Given the description of an element on the screen output the (x, y) to click on. 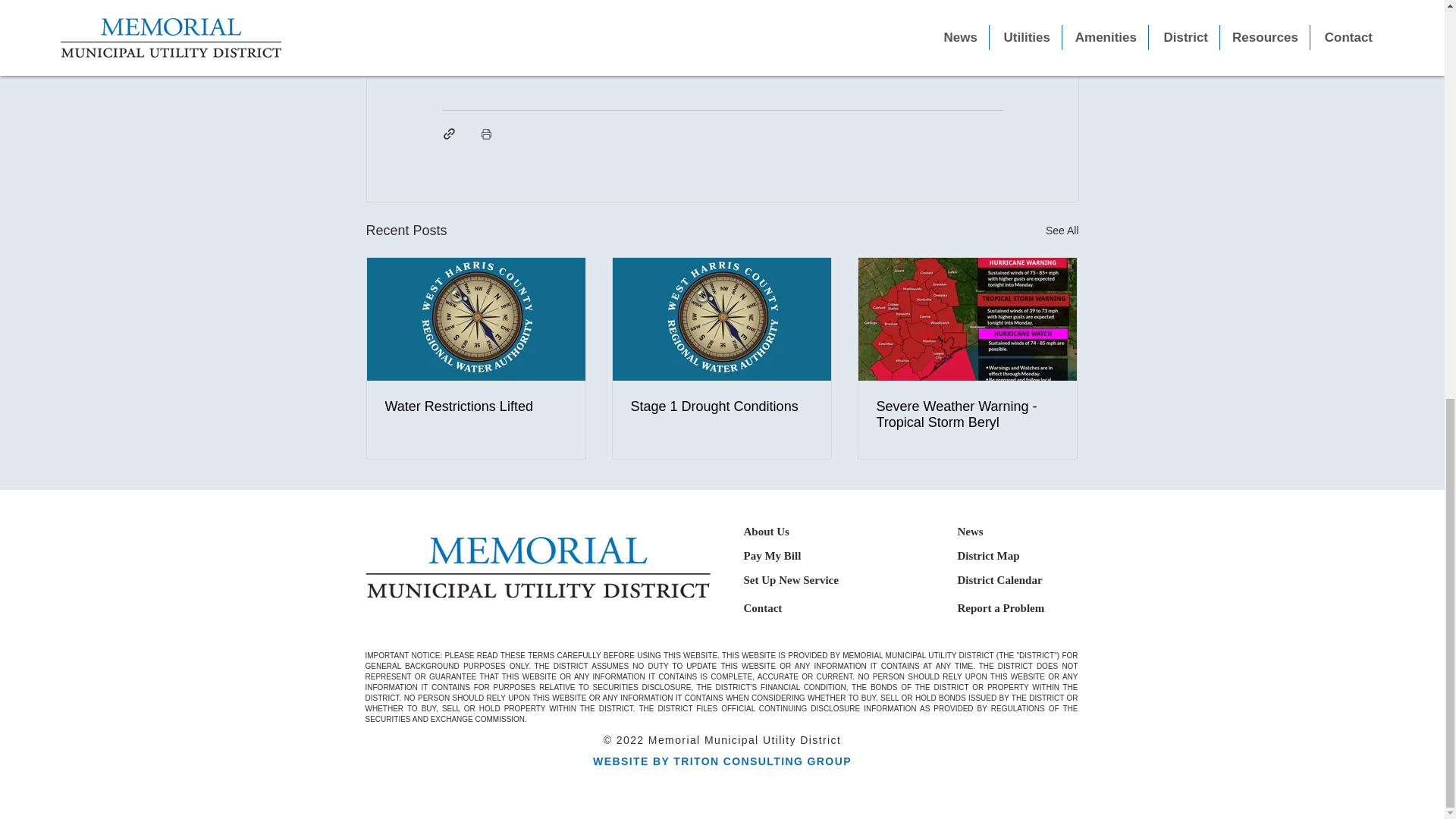
Report a Problem (999, 607)
See All (1061, 230)
Water Restrictions Lifted (476, 406)
District Map (987, 554)
Severe Weather Warning - Tropical Storm Beryl (967, 414)
comptroller.texas.gov (763, 61)
WEBSITE BY TRITON CONSULTING GROUP (721, 761)
Set Up New Service (790, 579)
News (969, 531)
Stage 1 Drought Conditions (721, 406)
District Calendar (999, 579)
Contact (761, 607)
About Us (765, 531)
Pay My Bill (771, 554)
